Given the description of an element on the screen output the (x, y) to click on. 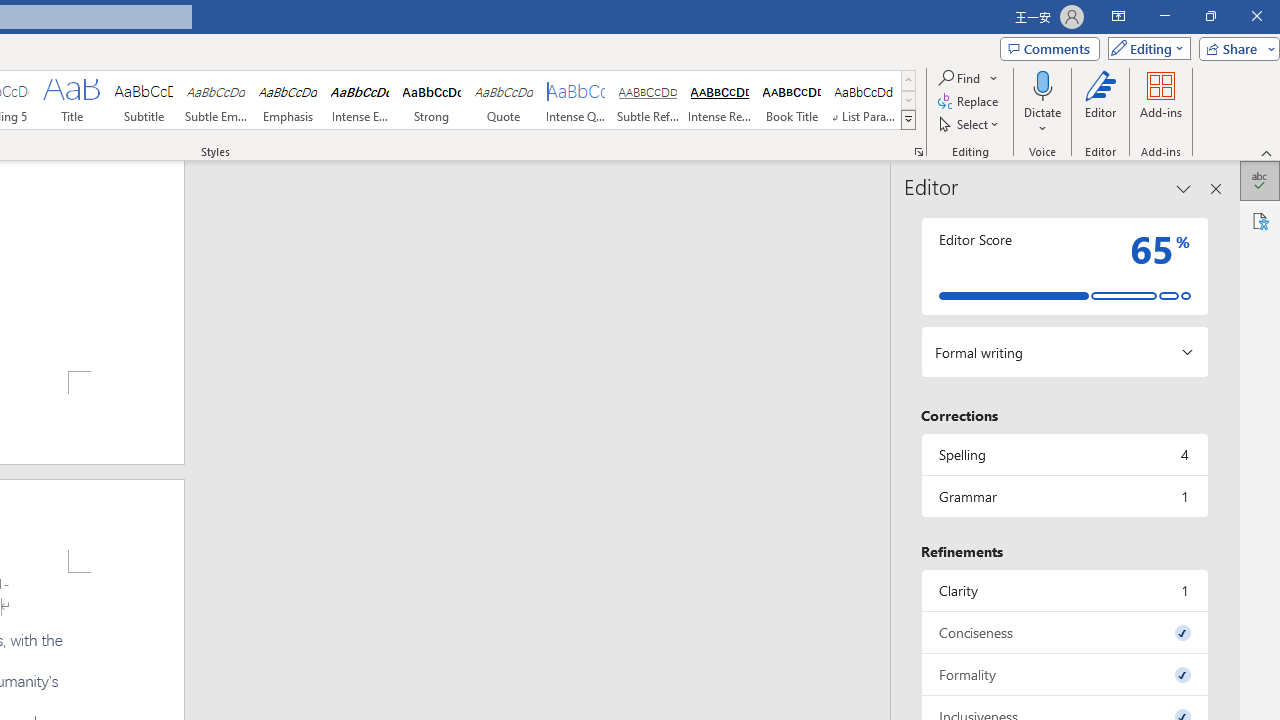
Dictate (1042, 102)
Minimize (1164, 16)
